Given the description of an element on the screen output the (x, y) to click on. 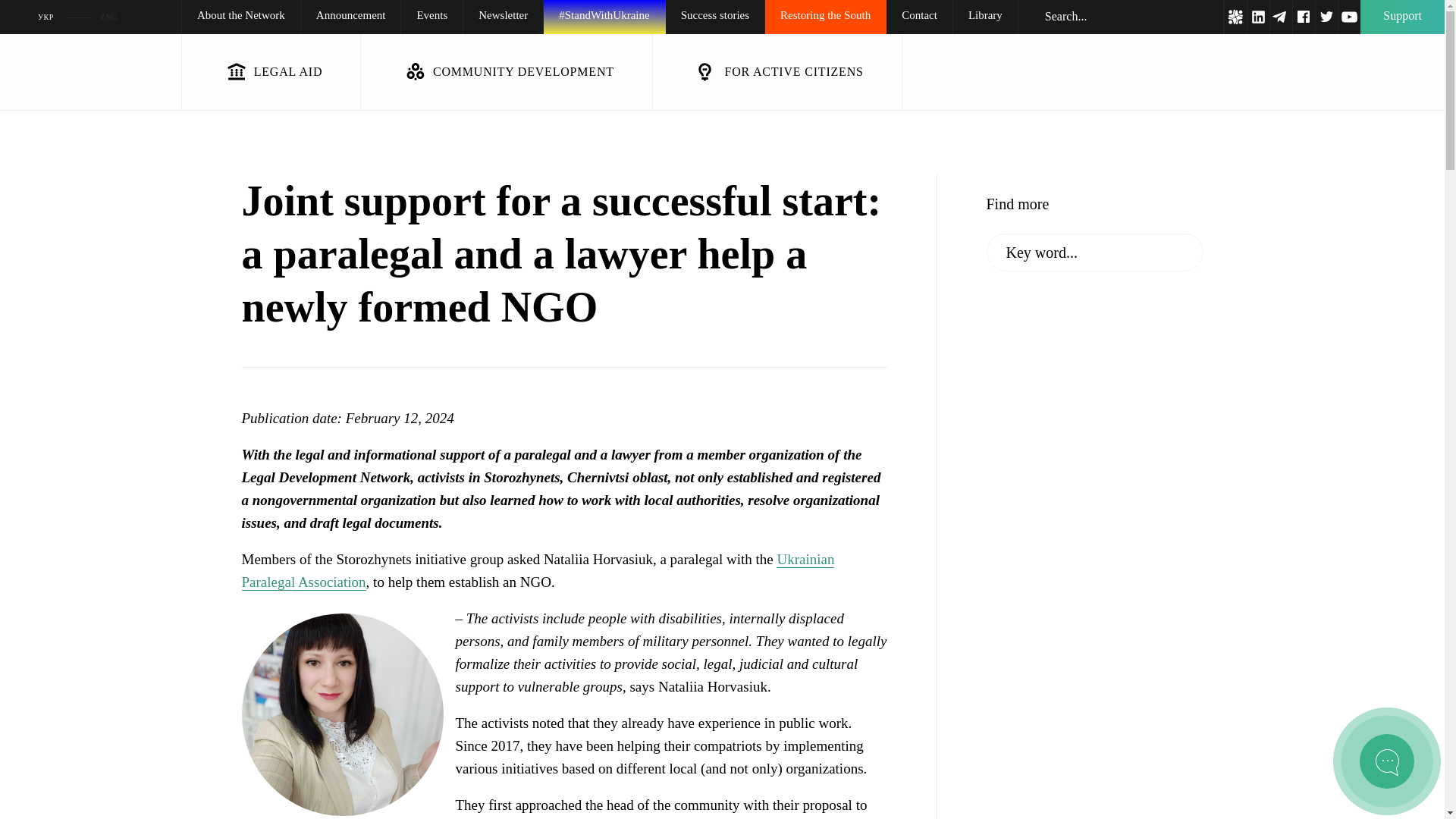
Ukrainian Paralegal Association (537, 570)
Events (432, 17)
Contact (919, 17)
Announcement (351, 17)
LEGAL AID (271, 71)
Library (985, 17)
Restoring the South (825, 17)
Success stories (714, 17)
About the Network (240, 17)
COMMUNITY DEVELOPMENT (506, 71)
